Given the description of an element on the screen output the (x, y) to click on. 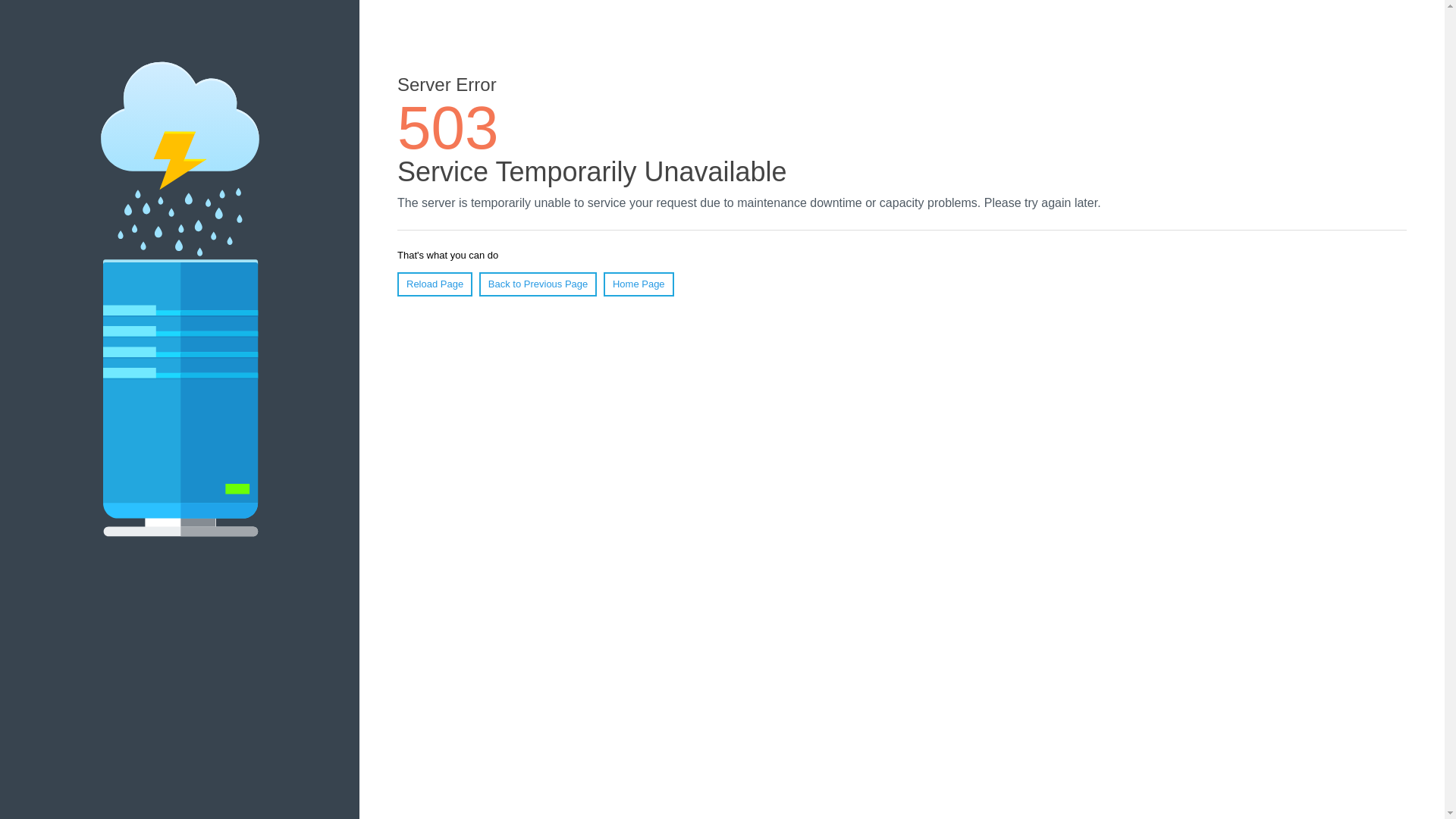
Reload Page (434, 283)
Home Page (639, 283)
Back to Previous Page (537, 283)
